Given the description of an element on the screen output the (x, y) to click on. 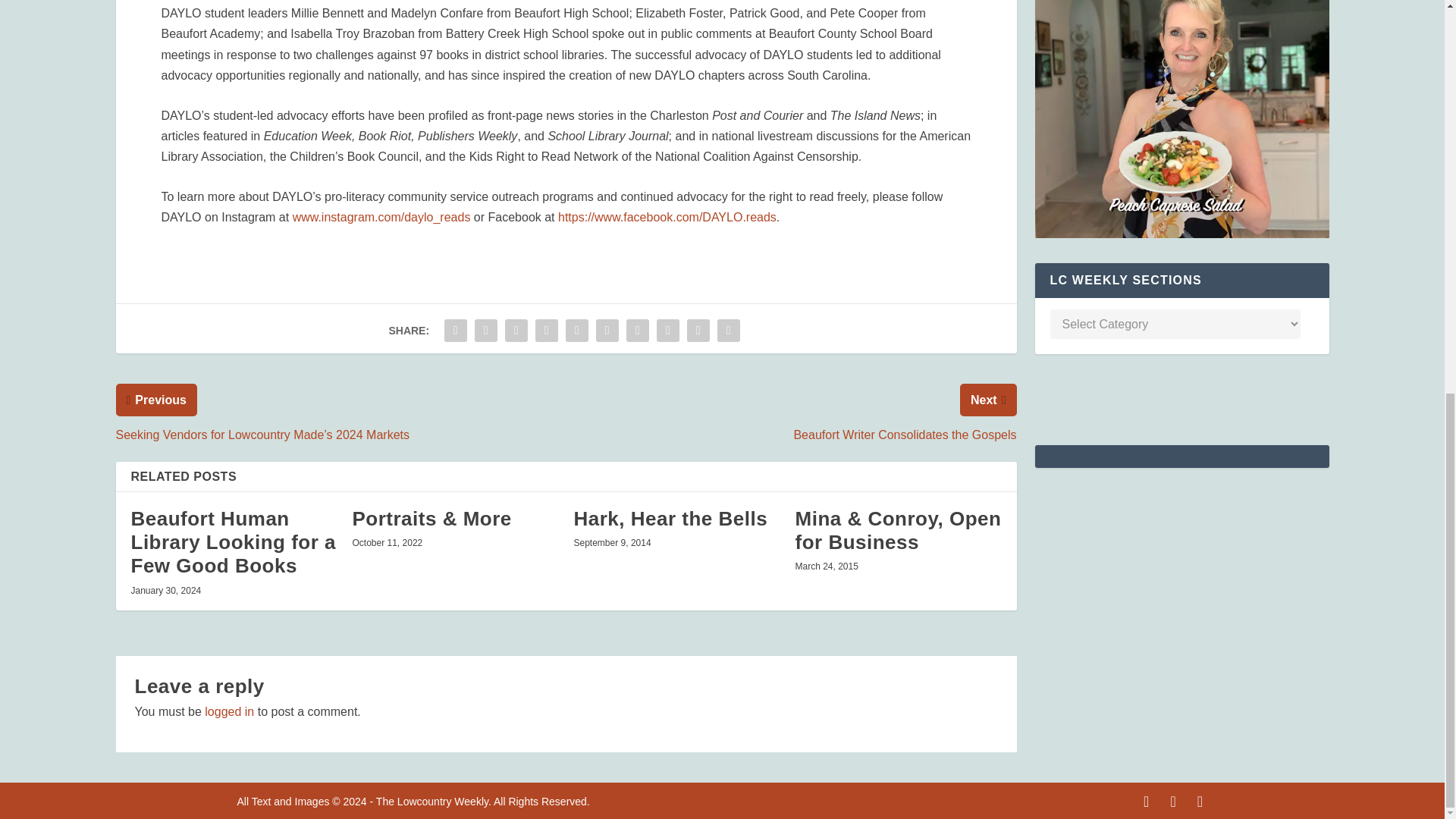
Share "DAYLO Honored with National Commendation" via Email (697, 330)
Share "DAYLO Honored with National Commendation" via Buffer (637, 330)
Share "DAYLO Honored with National Commendation" via Tumblr (546, 330)
Share "DAYLO Honored with National Commendation" via Twitter (485, 330)
